Given the description of an element on the screen output the (x, y) to click on. 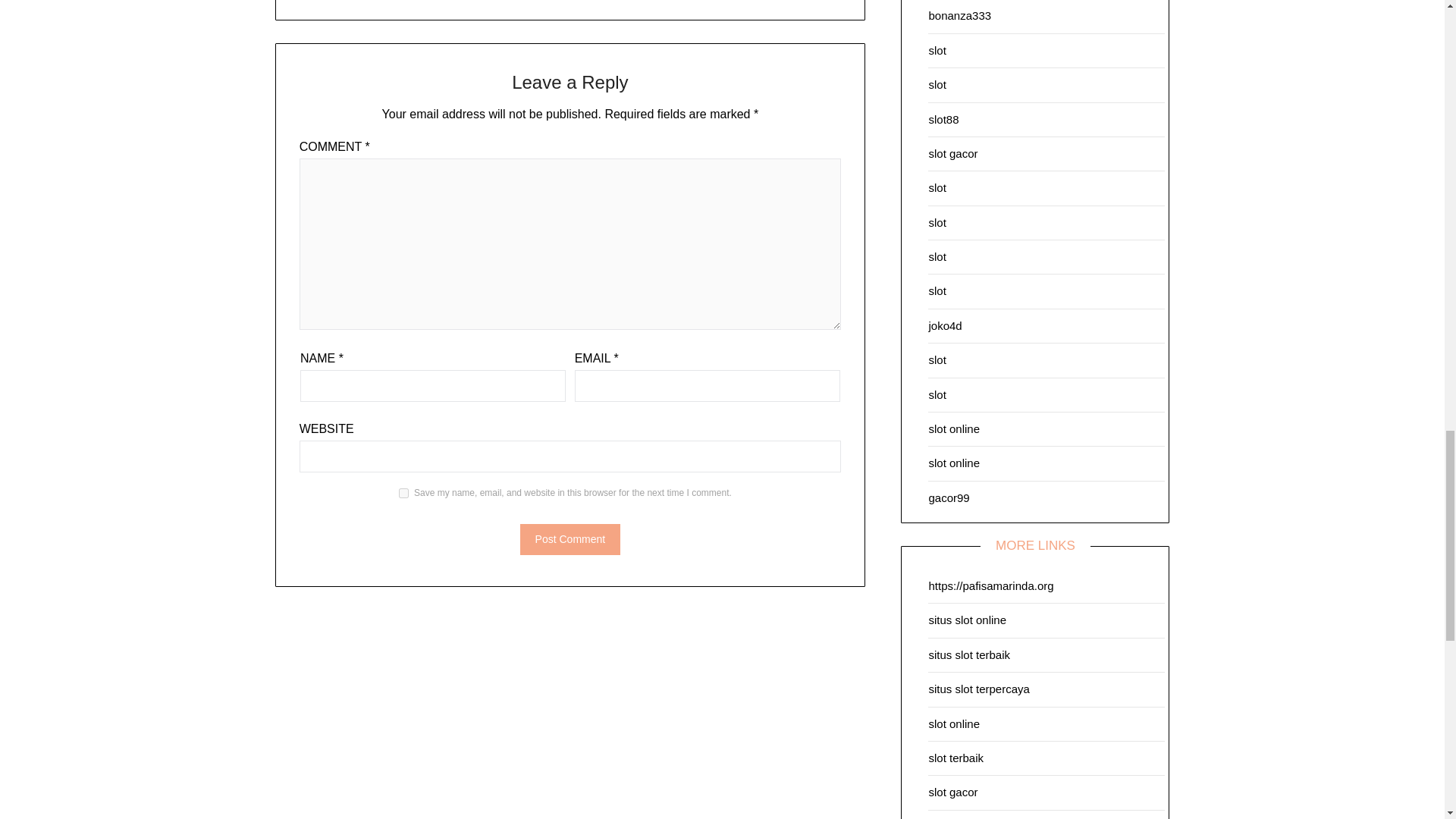
Post Comment (570, 539)
yes (403, 492)
Post Comment (570, 539)
